Given the description of an element on the screen output the (x, y) to click on. 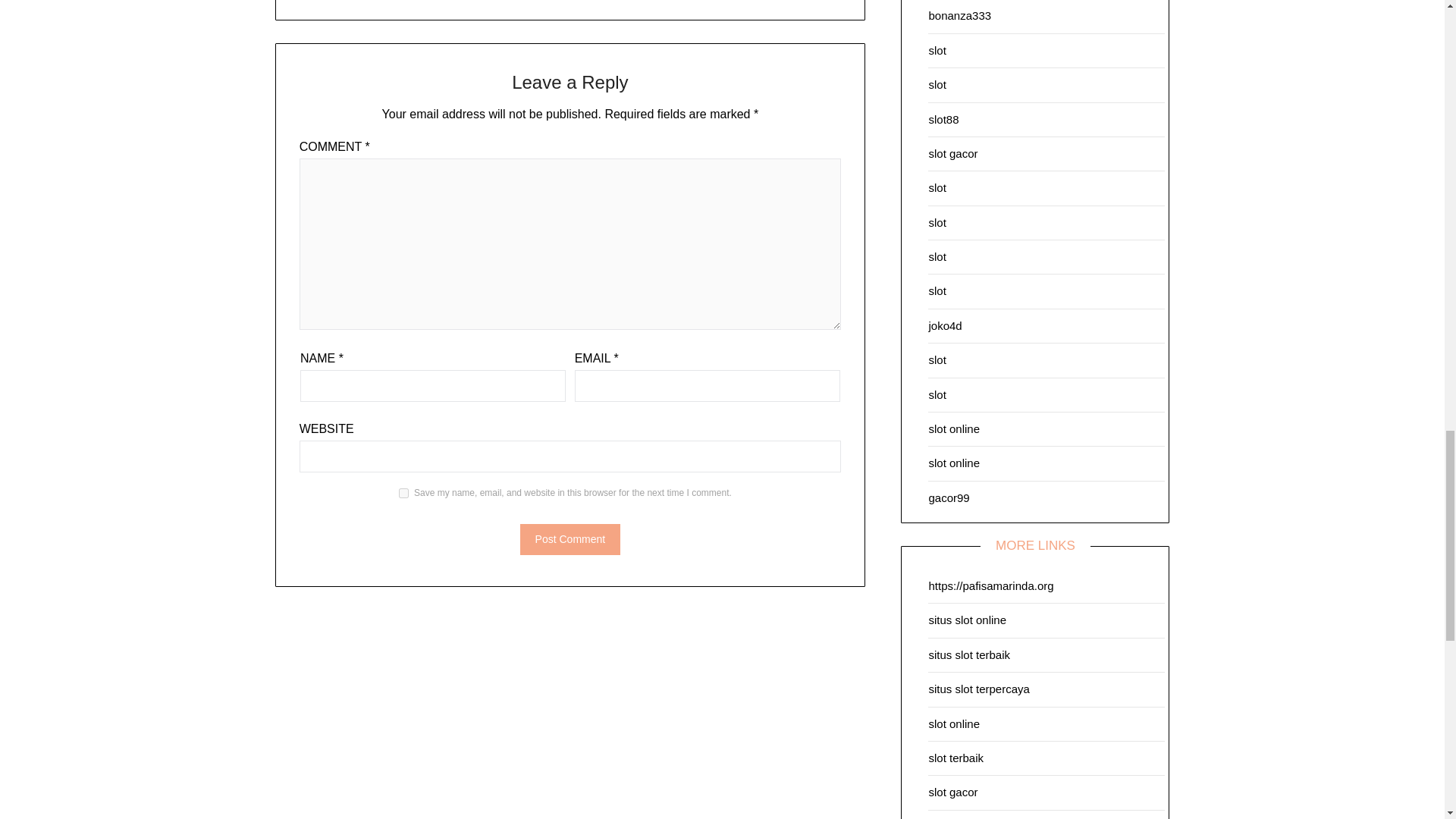
Post Comment (570, 539)
yes (403, 492)
Post Comment (570, 539)
